Given the description of an element on the screen output the (x, y) to click on. 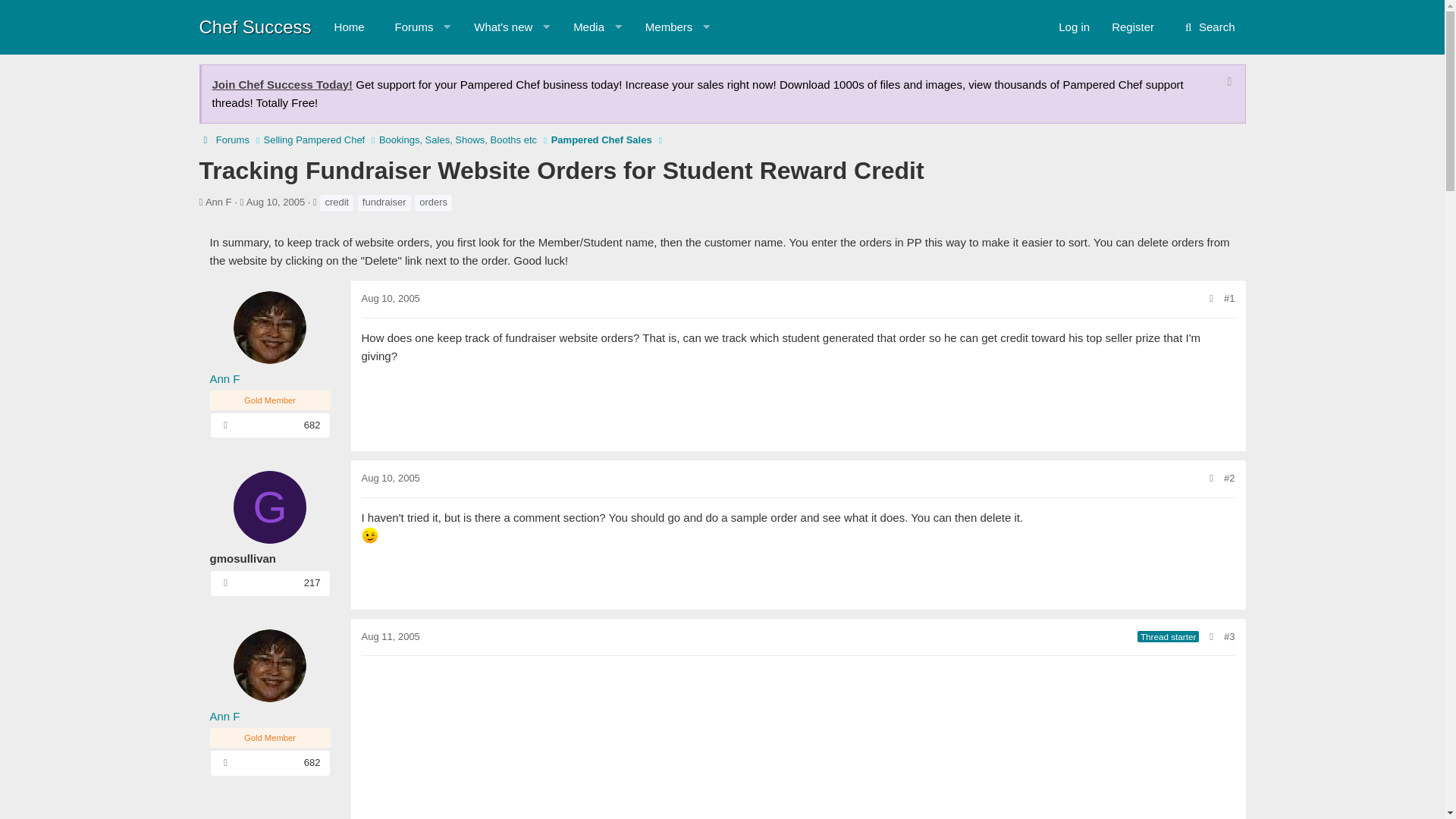
Chef Success (254, 26)
Search (1208, 26)
Aug 11, 2005 at 7:40 AM (390, 636)
Home (518, 44)
Register (349, 26)
Members (1132, 26)
Forums (662, 26)
Media (407, 26)
Aug 10, 2005 at 8:21 PM (581, 26)
What's new (390, 297)
Join Chef Success Today! (496, 26)
Search (518, 26)
Advertisement (282, 83)
